Given the description of an element on the screen output the (x, y) to click on. 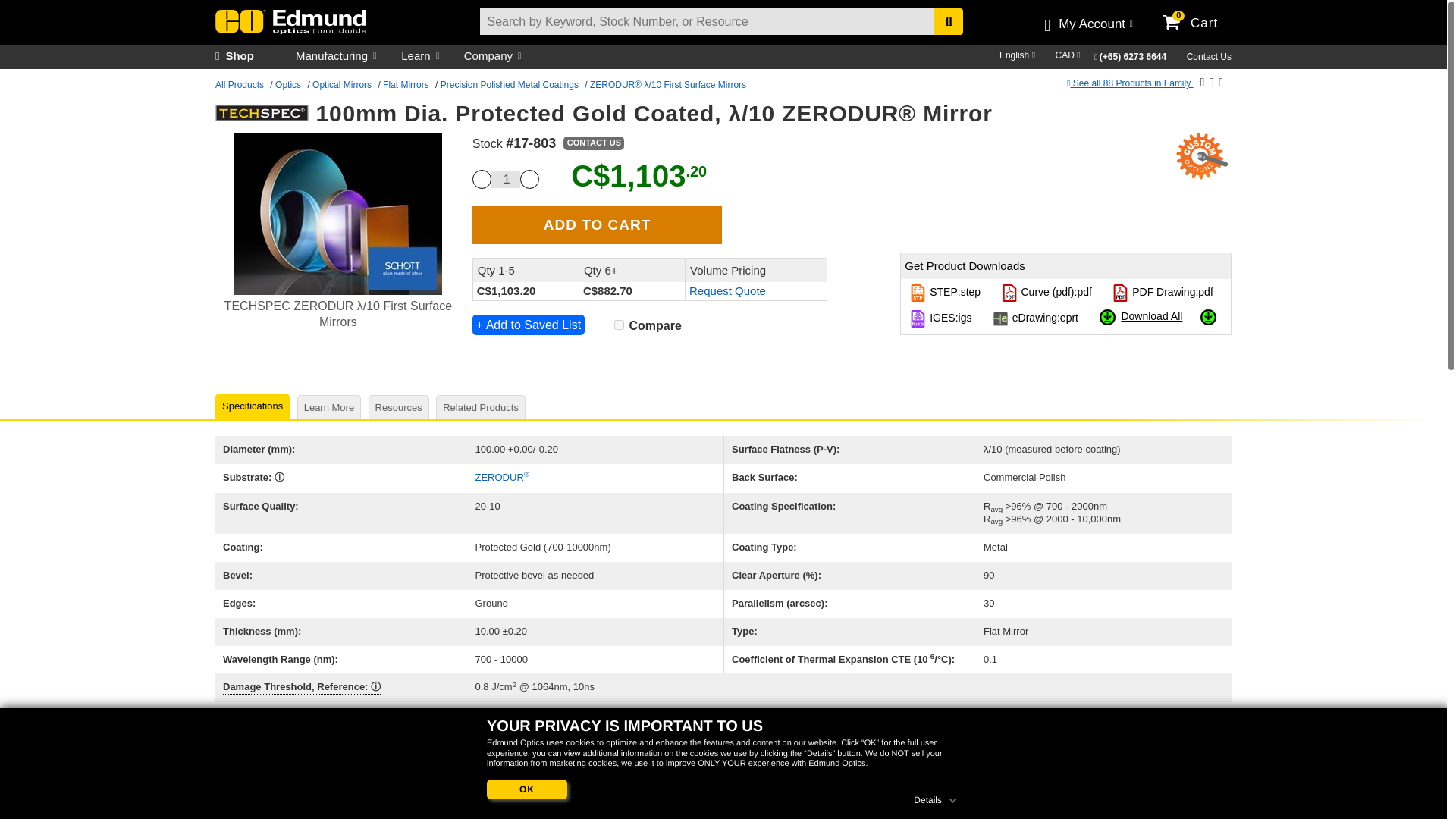
Details (936, 797)
on (619, 325)
Add to Cart (596, 225)
OK (526, 789)
1 (505, 179)
